Given the description of an element on the screen output the (x, y) to click on. 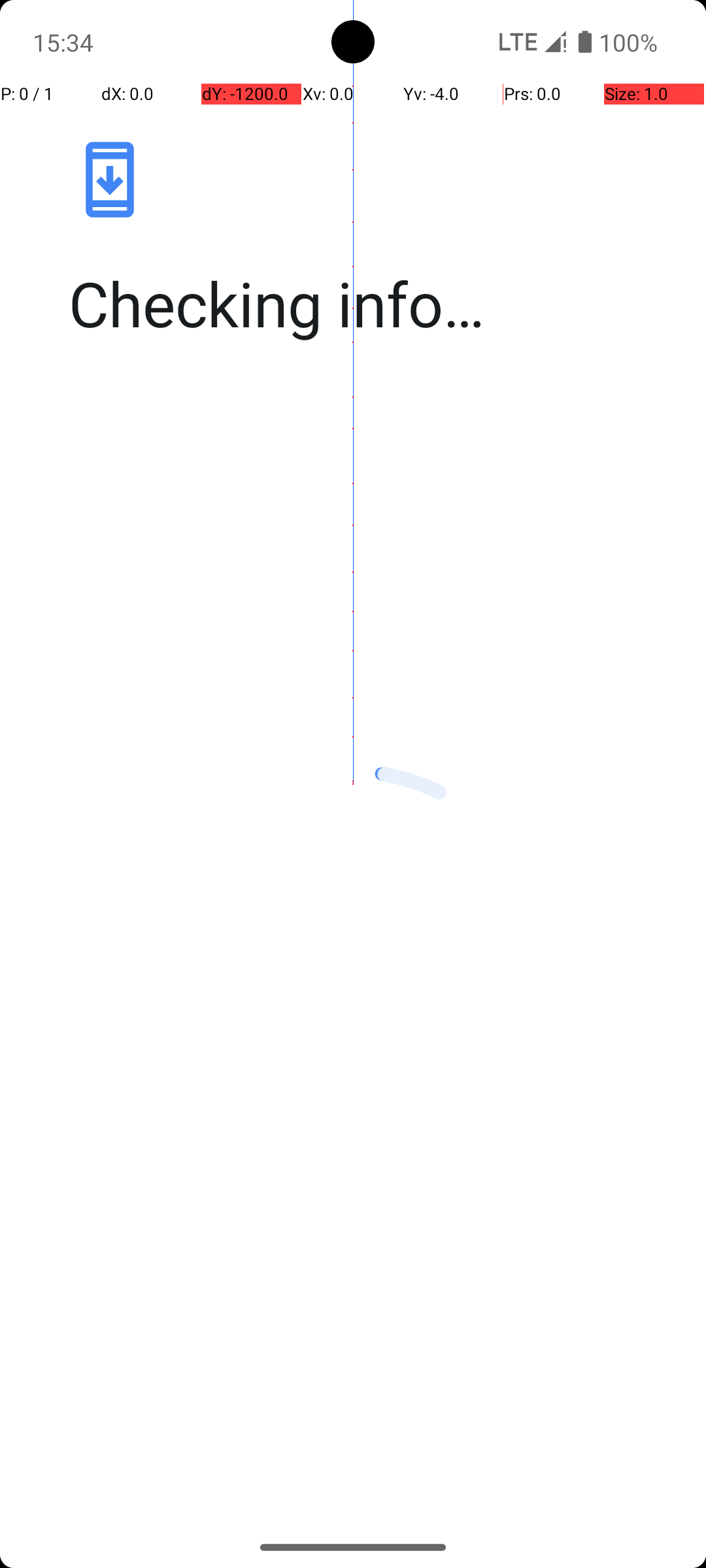
Checking info… Element type: android.widget.TextView (366, 302)
